Given the description of an element on the screen output the (x, y) to click on. 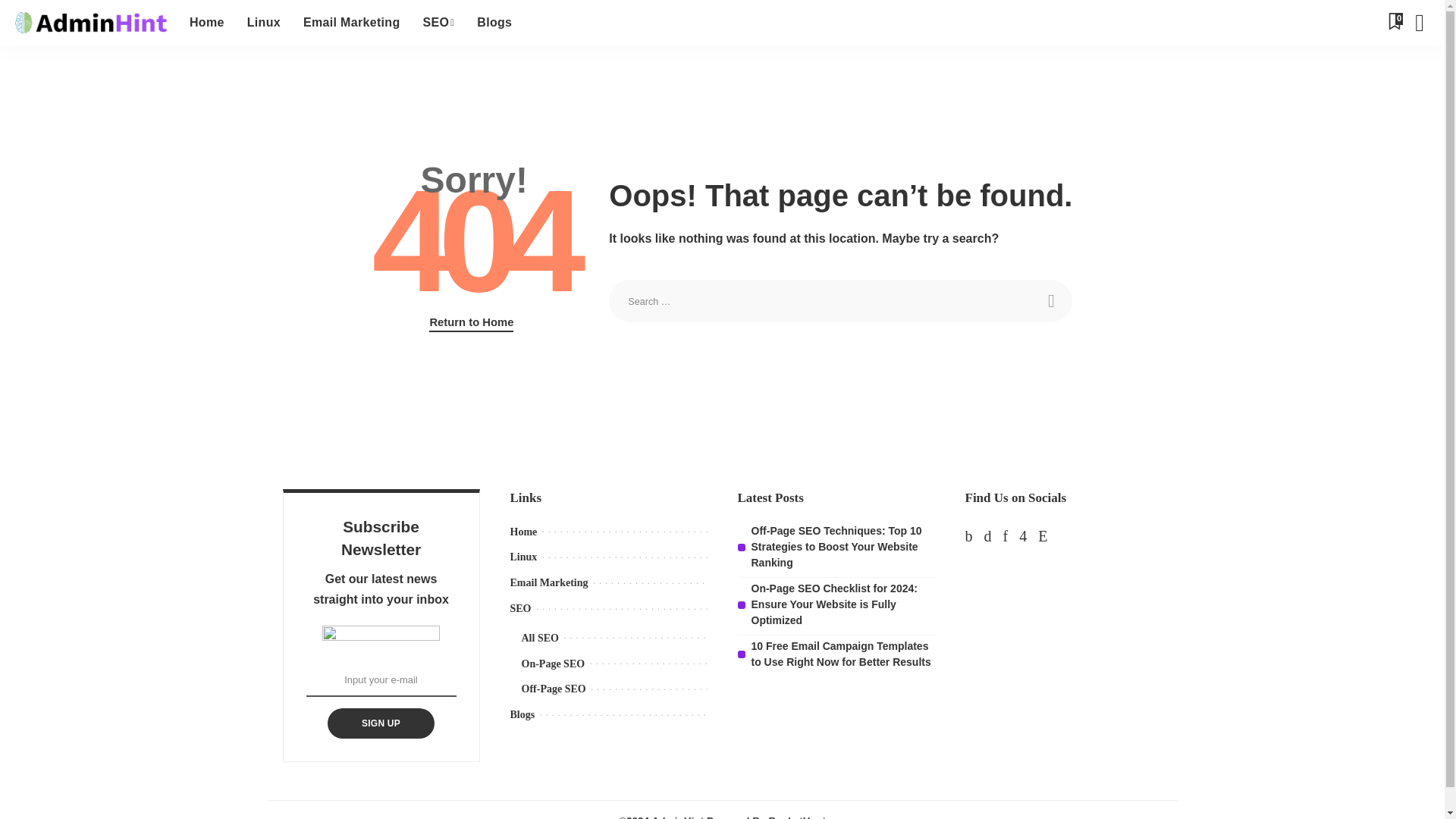
Search (1050, 301)
Linux (263, 22)
Search (1050, 301)
Home (206, 22)
